Given the description of an element on the screen output the (x, y) to click on. 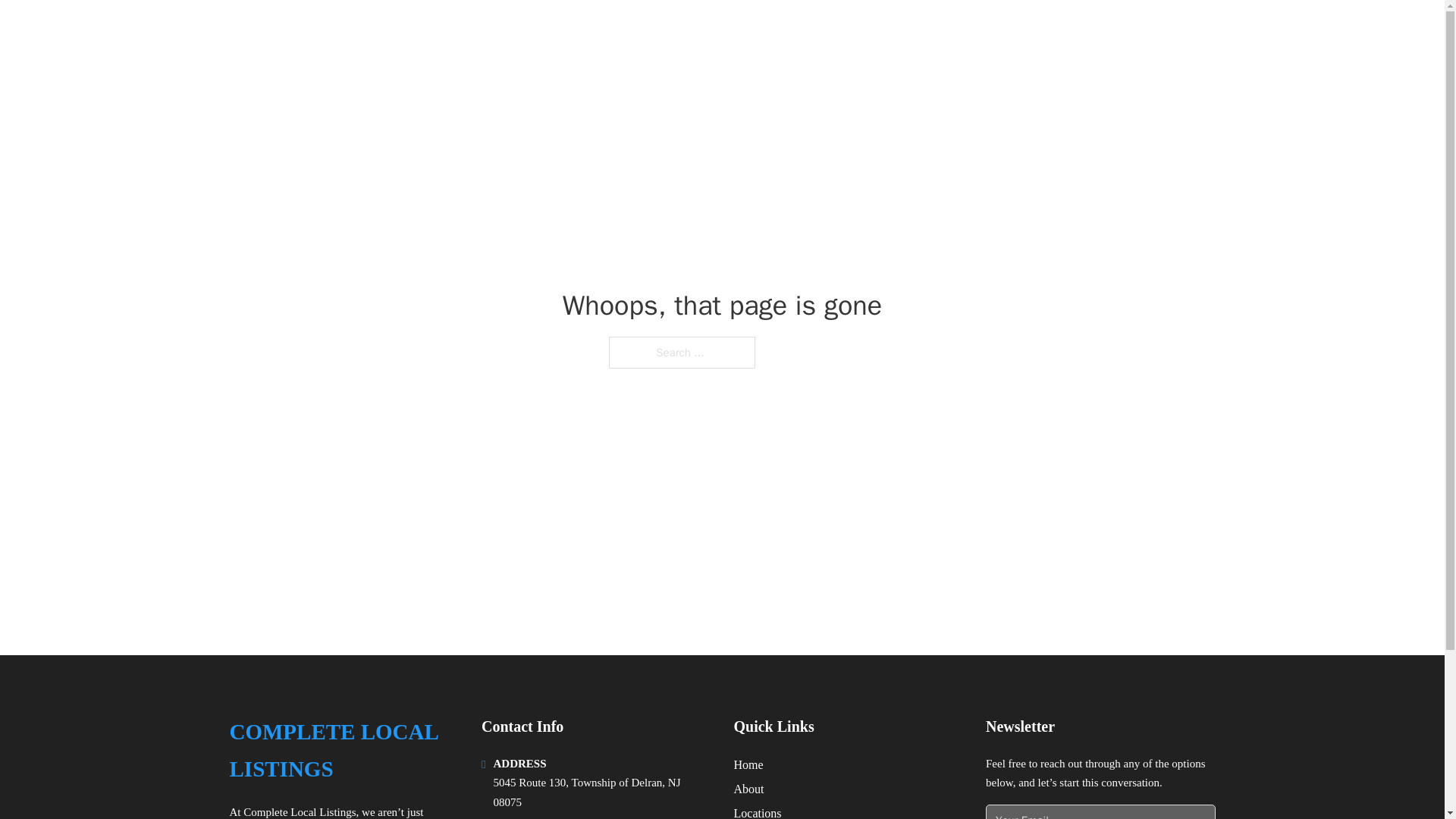
Locations (757, 811)
Home (747, 764)
LOCATIONS (1098, 31)
COMPLETE LOCAL LISTINGS (403, 31)
Complete Local Listings (299, 811)
About (748, 788)
COMPLETE LOCAL LISTINGS (343, 750)
HOME (1025, 31)
